Given the description of an element on the screen output the (x, y) to click on. 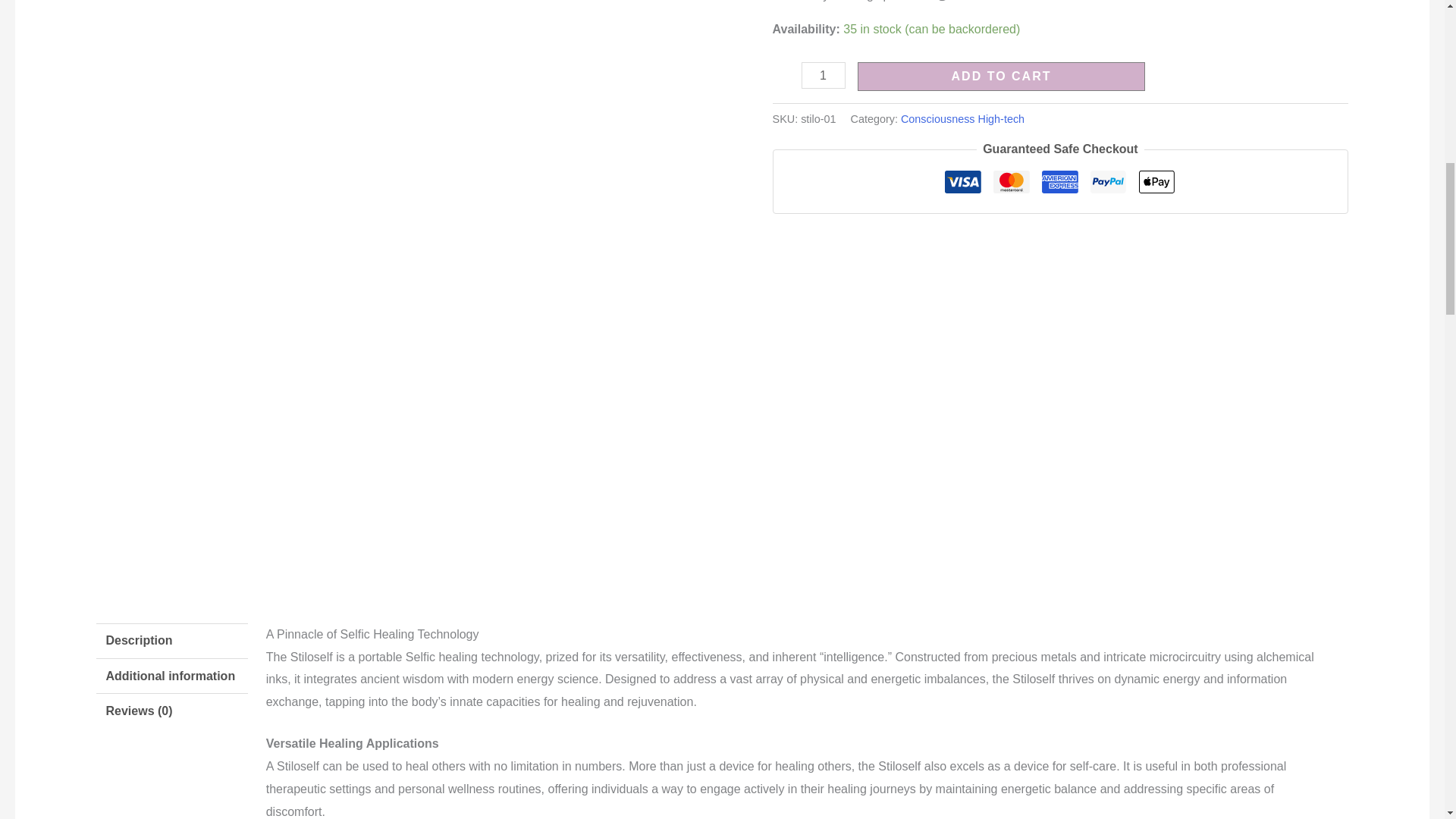
1 (823, 75)
